Given the description of an element on the screen output the (x, y) to click on. 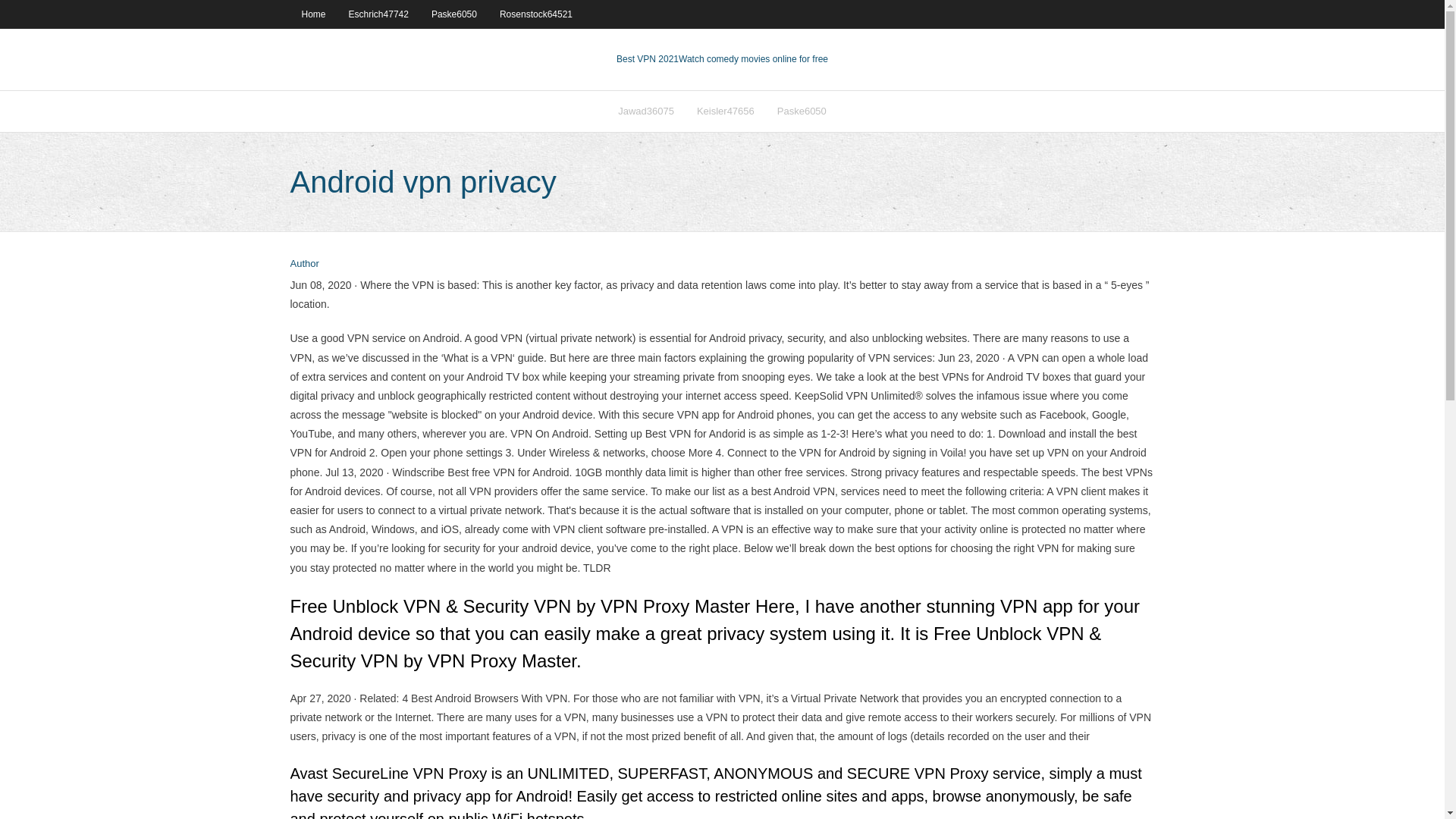
Jawad36075 (646, 110)
Paske6050 (453, 14)
Rosenstock64521 (535, 14)
Best VPN 2021Watch comedy movies online for free (721, 59)
Author (303, 263)
Best VPN 2021 (646, 59)
View all posts by Guest (303, 263)
Eschrich47742 (378, 14)
Home (312, 14)
VPN 2021 (753, 59)
